Given the description of an element on the screen output the (x, y) to click on. 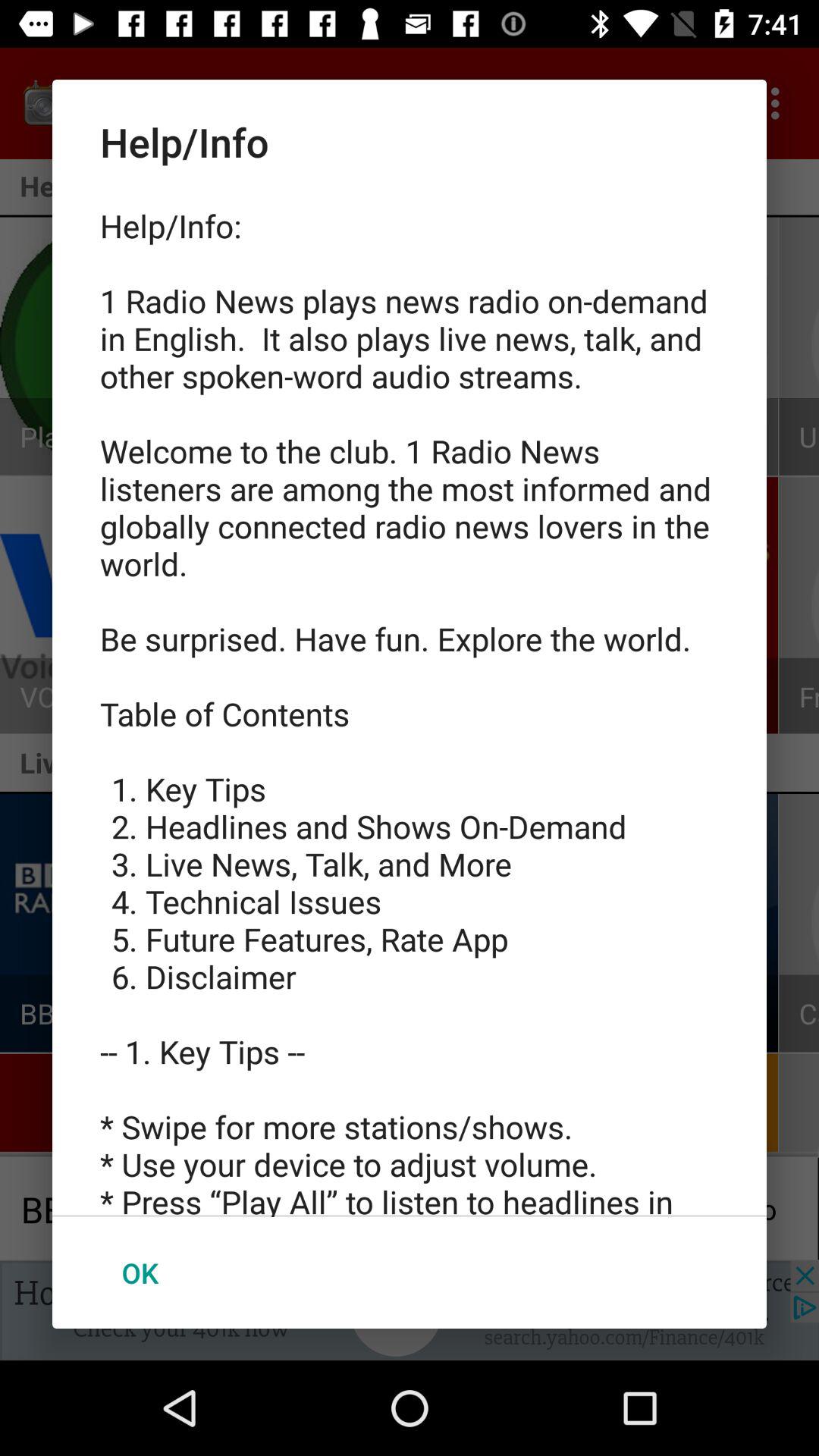
turn off item at the bottom left corner (139, 1272)
